Given the description of an element on the screen output the (x, y) to click on. 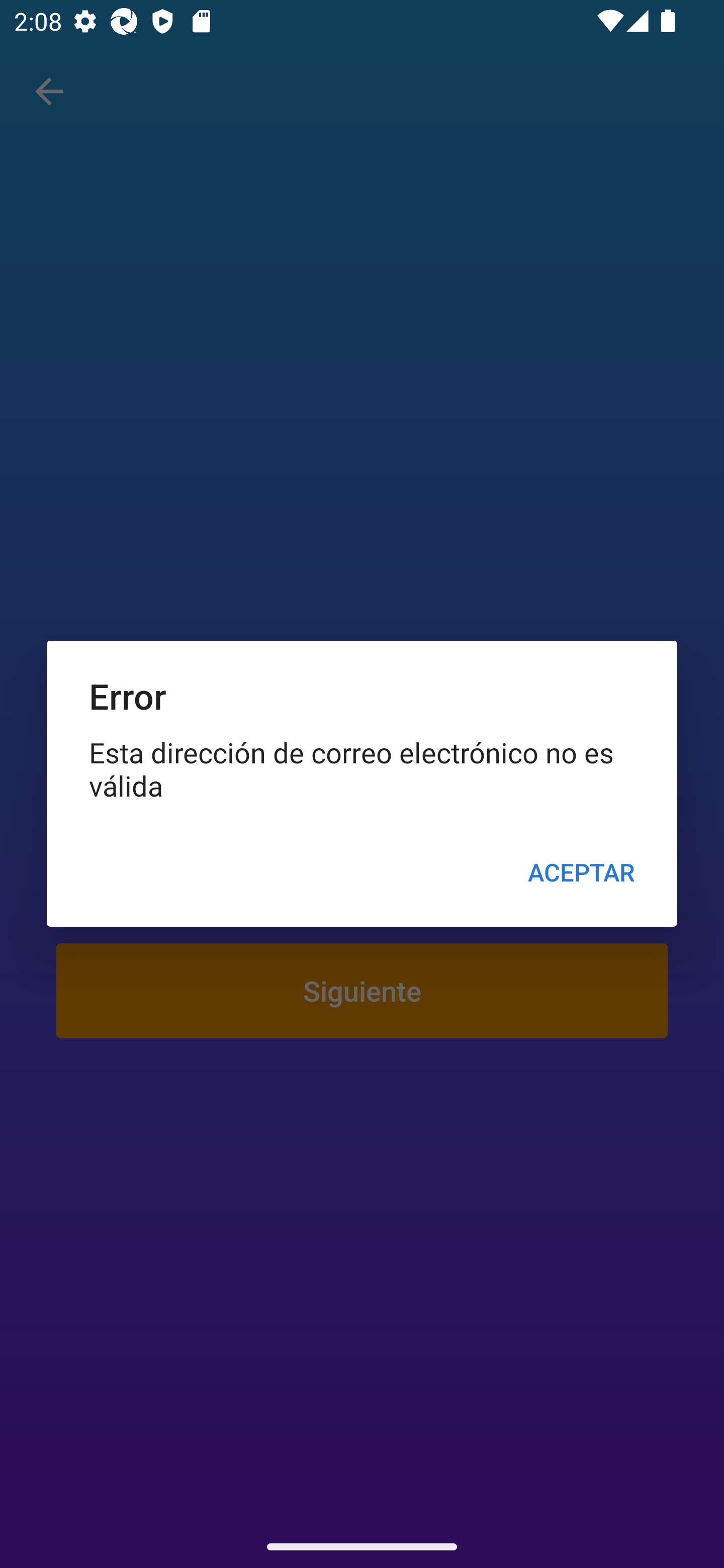
ACEPTAR (580, 872)
